Given the description of an element on the screen output the (x, y) to click on. 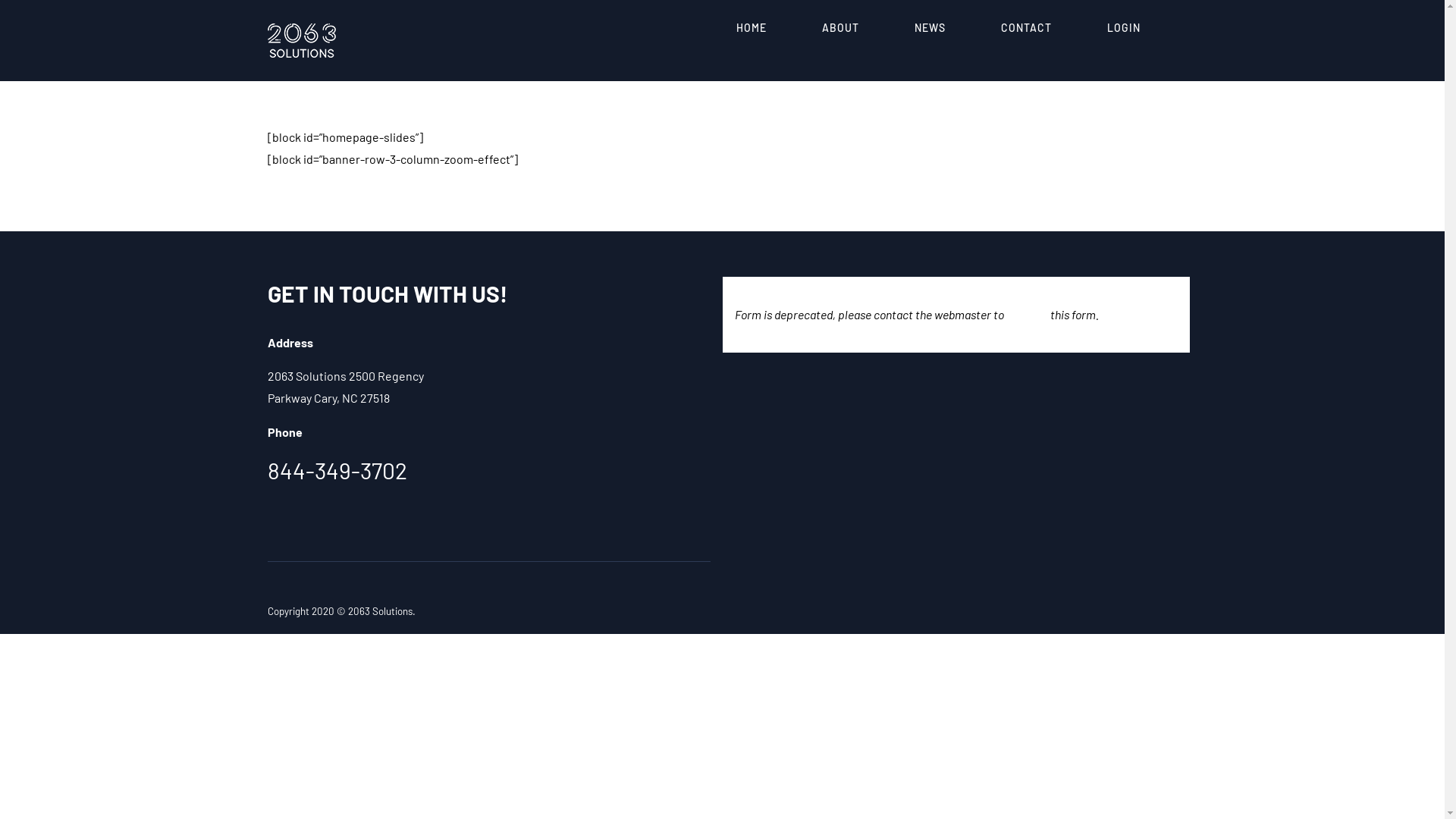
CONTACT Element type: text (1026, 27)
LOGIN Element type: text (1123, 27)
NEWS Element type: text (929, 27)
ABOUT Element type: text (840, 27)
HOME Element type: text (750, 27)
upgrade Element type: text (1026, 314)
